Given the description of an element on the screen output the (x, y) to click on. 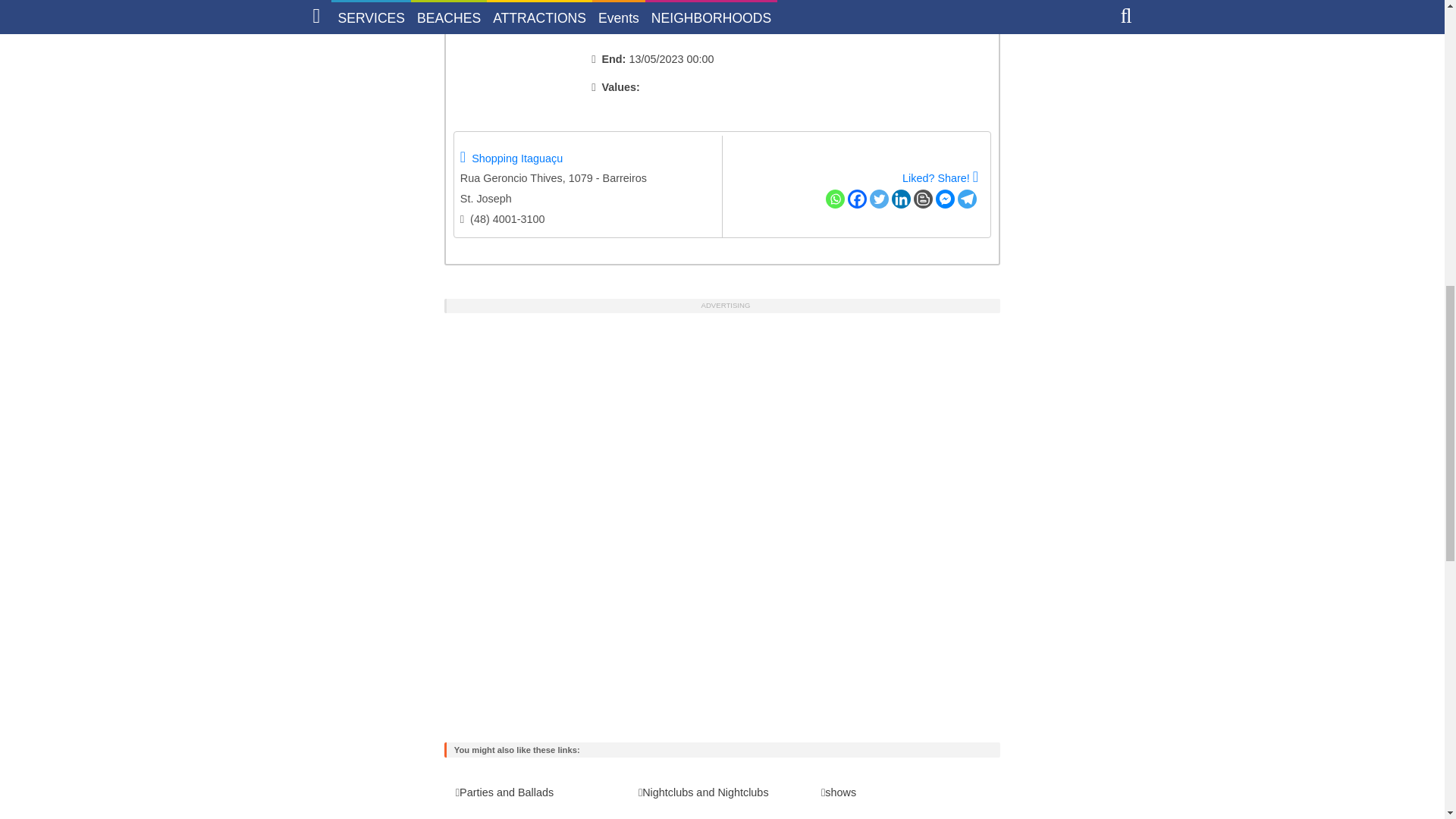
LinkedIn (901, 198)
Whatsapp (834, 198)
Telegram (967, 198)
blogger post (923, 198)
Twitter (878, 198)
Facebook (856, 198)
